Given the description of an element on the screen output the (x, y) to click on. 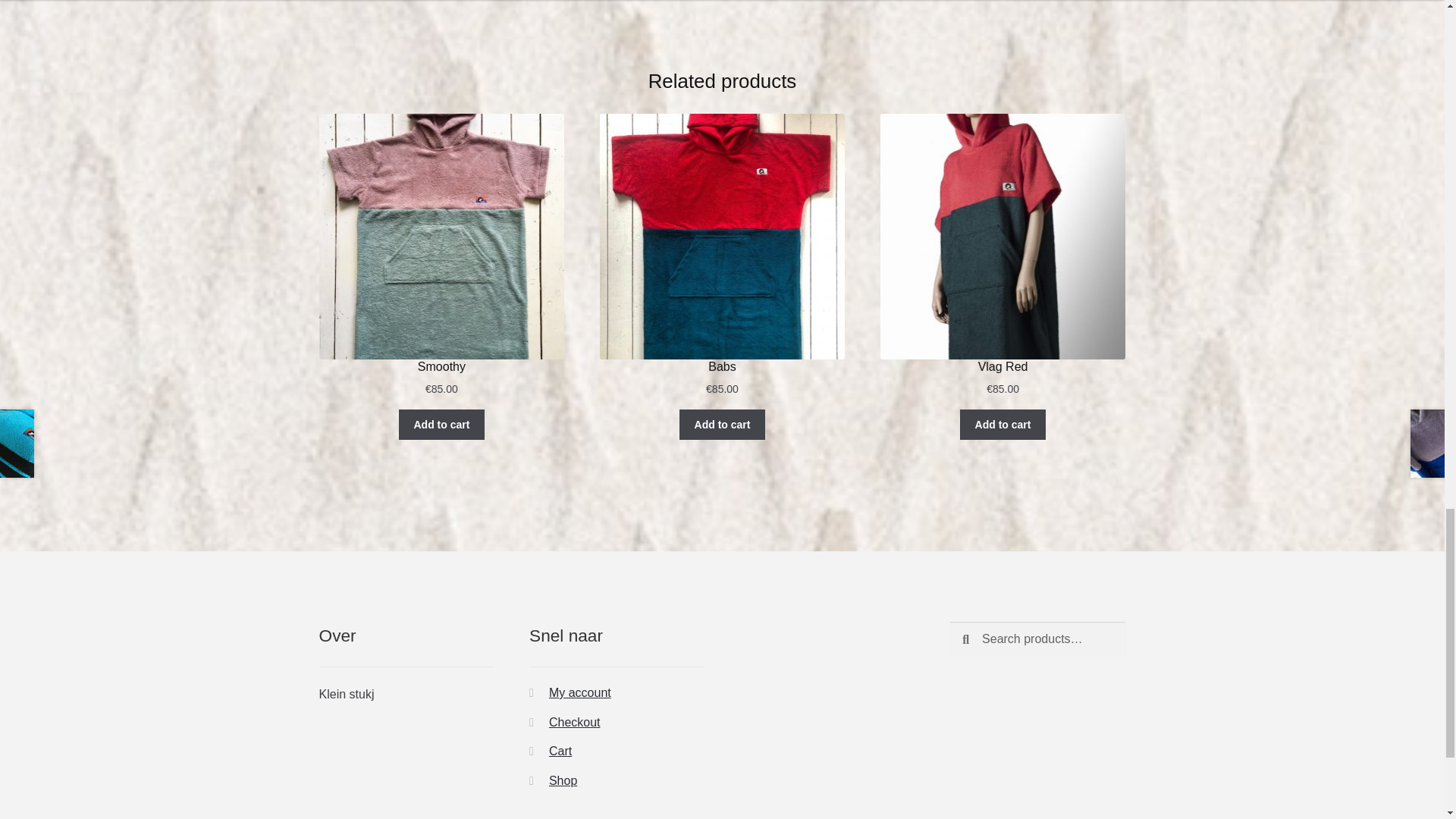
Add to cart (1002, 424)
Add to cart (722, 424)
Add to cart (441, 424)
